Given the description of an element on the screen output the (x, y) to click on. 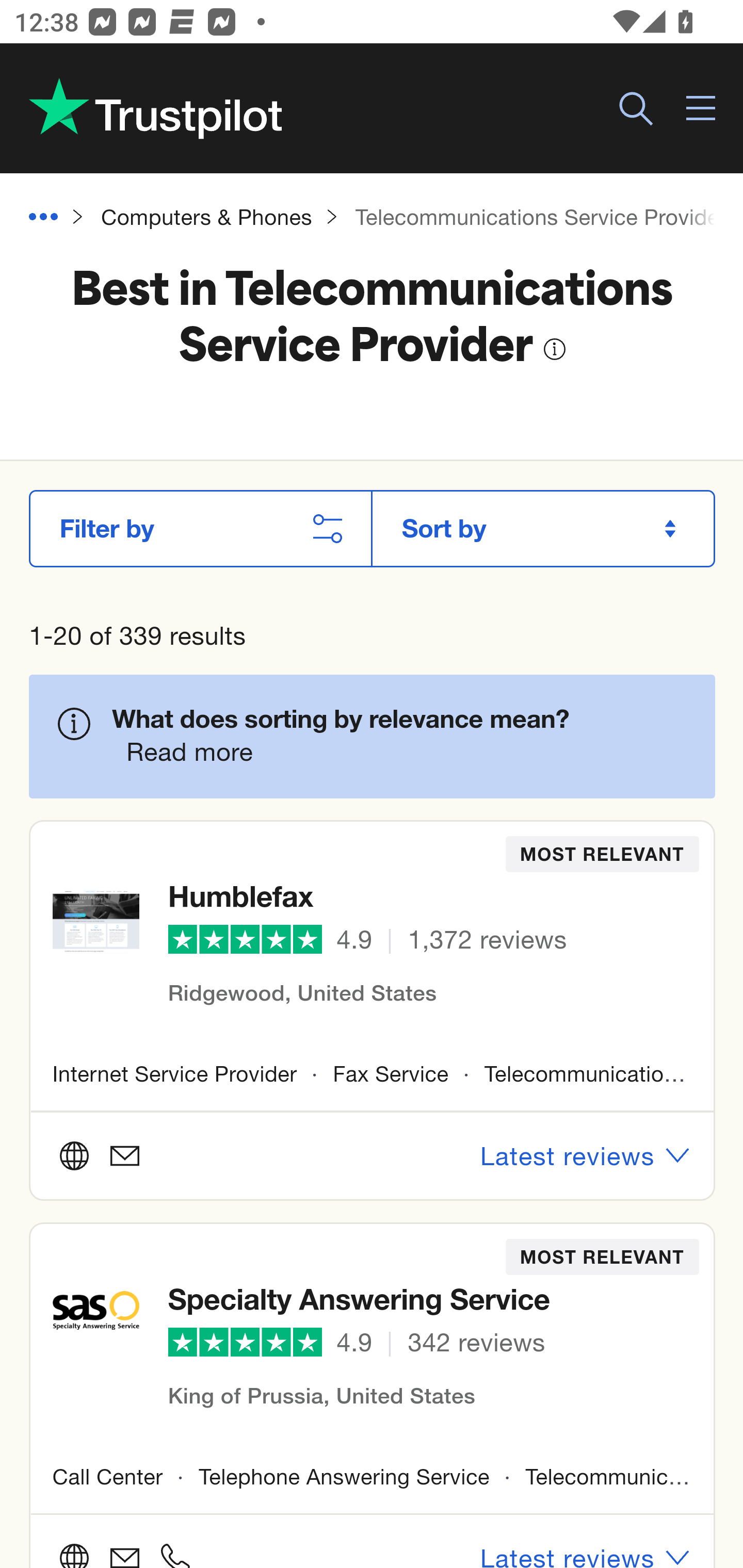
Trustpilot reviews (154, 108)
Search (636, 108)
Open menu (701, 108)
Show all breadcrumbs (50, 217)
Computers & Phones (206, 217)
Filter by (200, 528)
Sort by (543, 528)
What does sorting by relevance mean?Read more (400, 735)
Latest reviews  (585, 1156)
Contact (98, 1156)
Latest reviews  (585, 1546)
Contact (124, 1552)
